Given the description of an element on the screen output the (x, y) to click on. 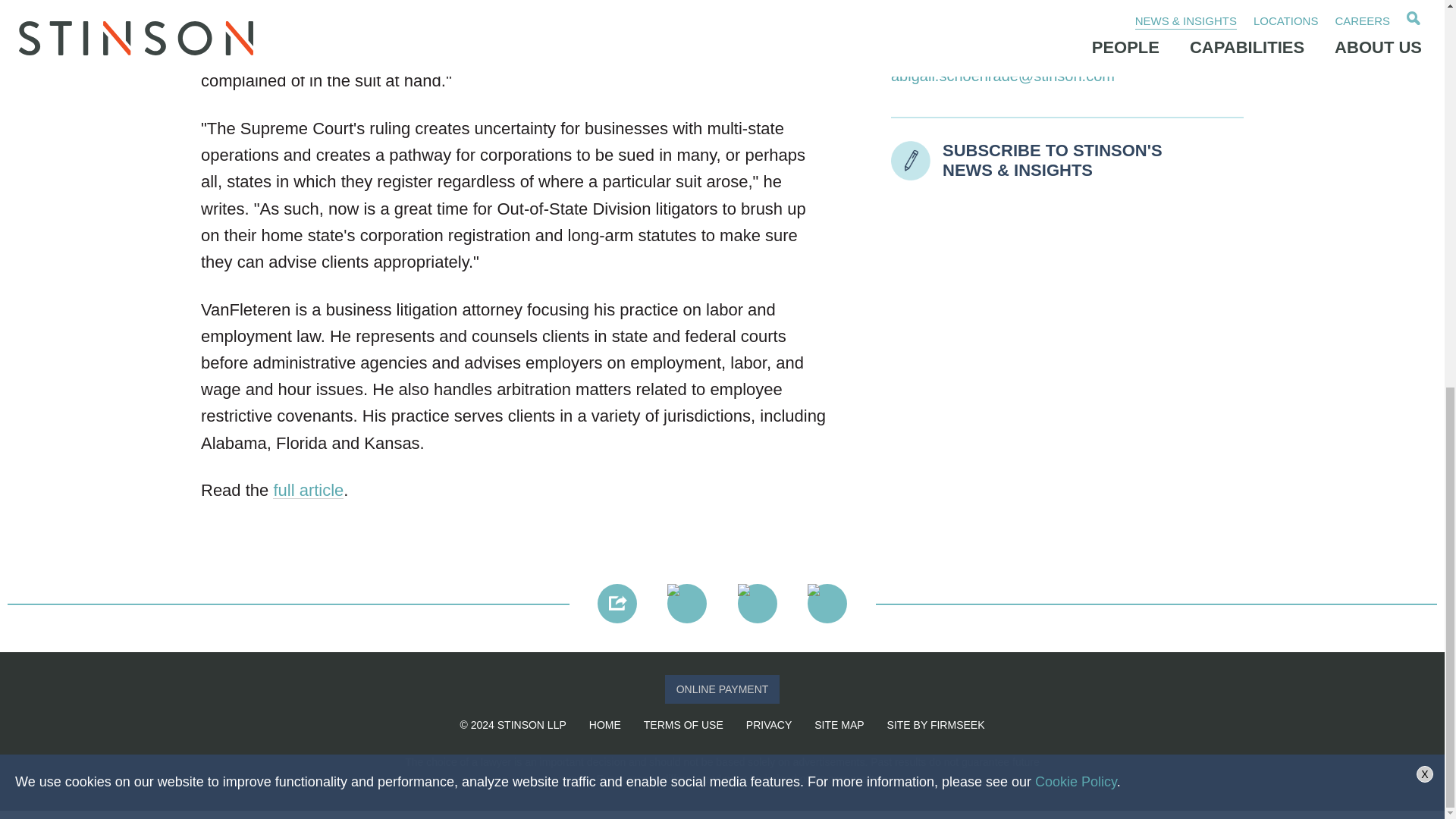
Cookie Policy (1075, 48)
Share (616, 603)
full article (308, 489)
